Given the description of an element on the screen output the (x, y) to click on. 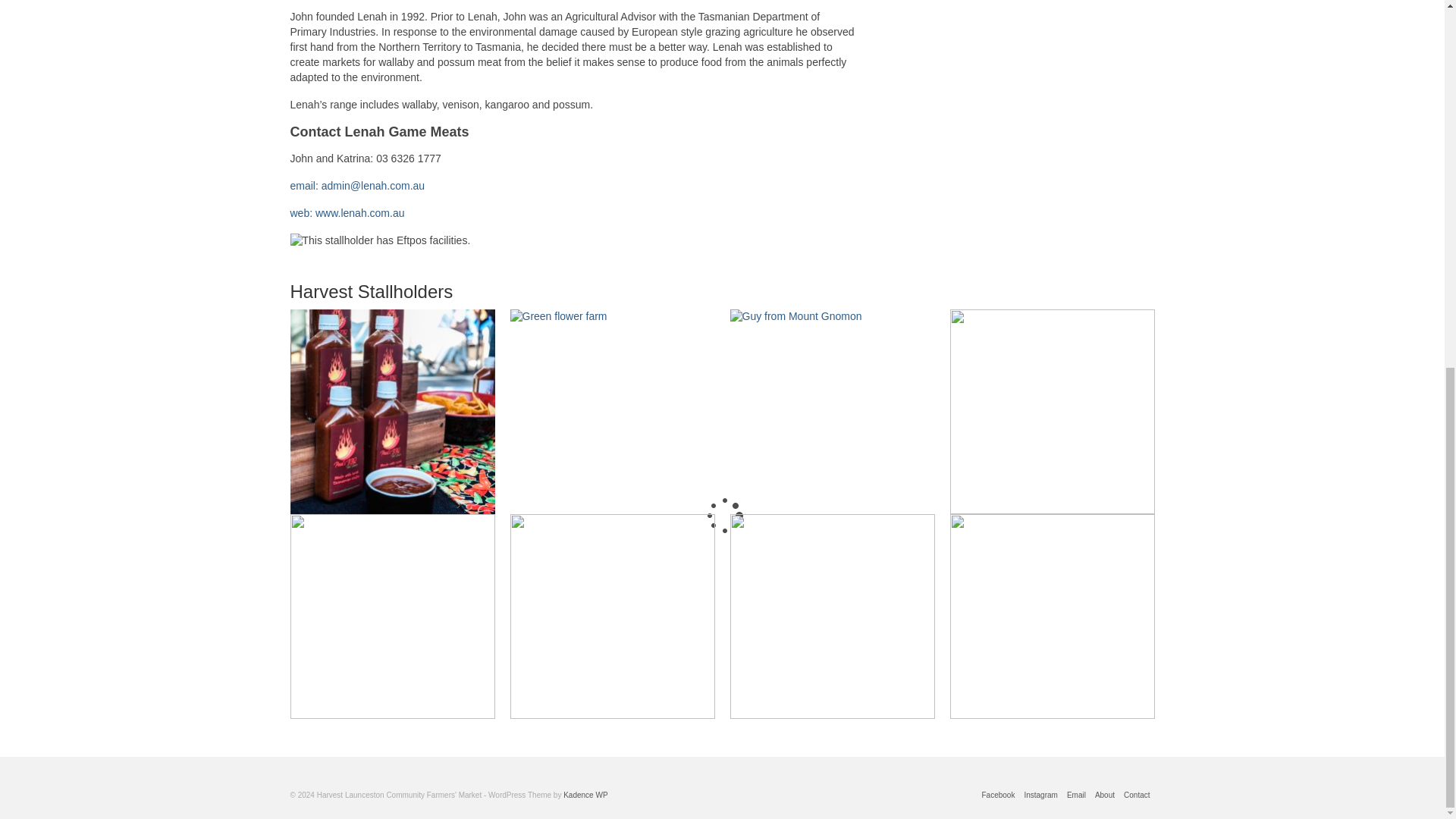
Lily Farm (392, 616)
Tas Daffodils (611, 616)
The Green Flower Farm (611, 411)
Three Peaks Organics (1051, 616)
web: www.lenah.com.au (346, 213)
Mount Gnomon Farm (831, 411)
Provenance Coffee Co. (831, 616)
